Given the description of an element on the screen output the (x, y) to click on. 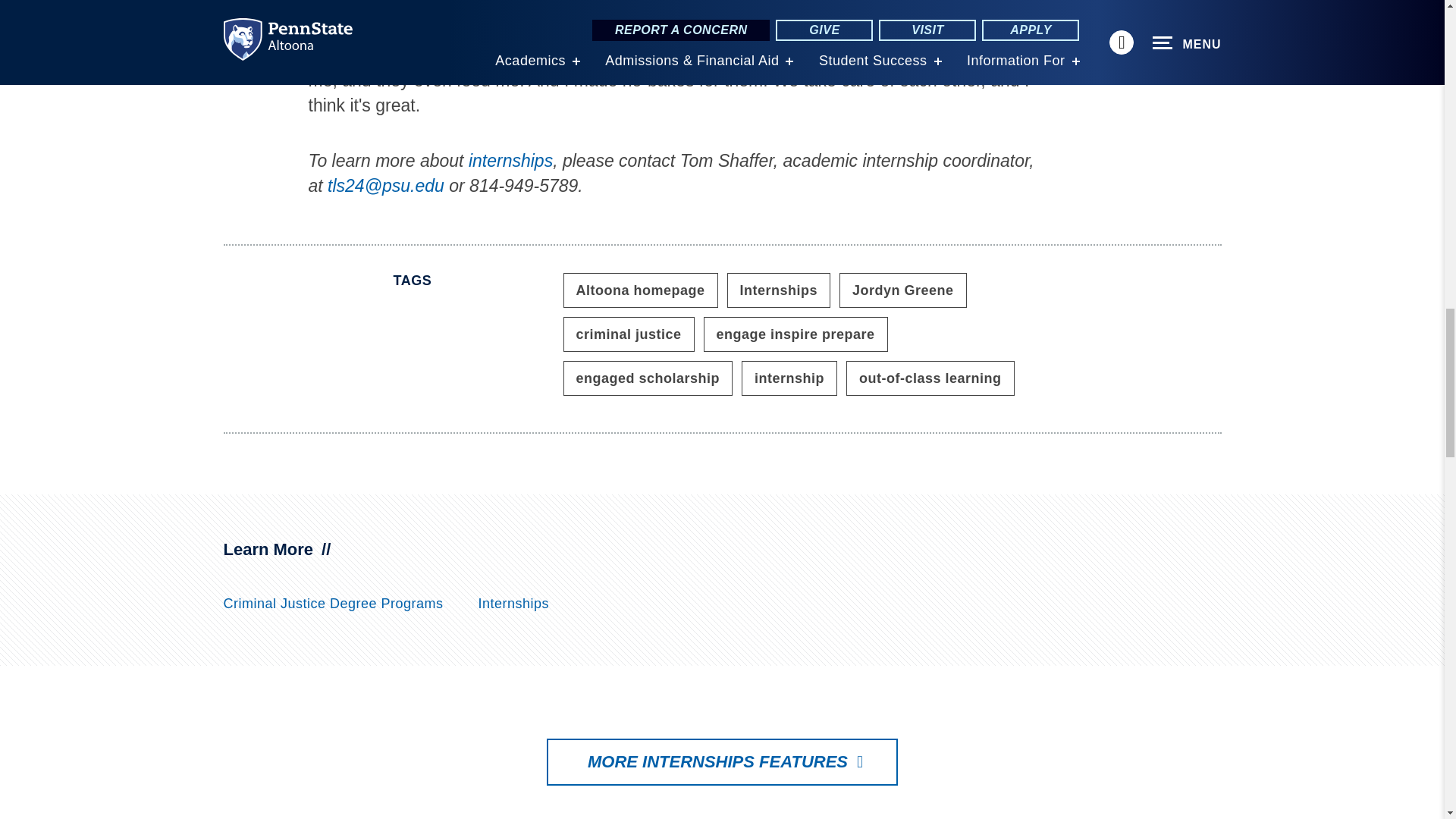
Content tagged with Internships (778, 289)
Content tagged with Jordyn Greene (903, 289)
Content tagged with criminal justice (628, 334)
Content tagged with internship (789, 378)
Content tagged with engage inspire prepare (795, 334)
Content tagged with out-of-class learning (929, 378)
Content tagged with engaged scholarship (647, 378)
Content tagged with Altoona homepage (639, 289)
